Given the description of an element on the screen output the (x, y) to click on. 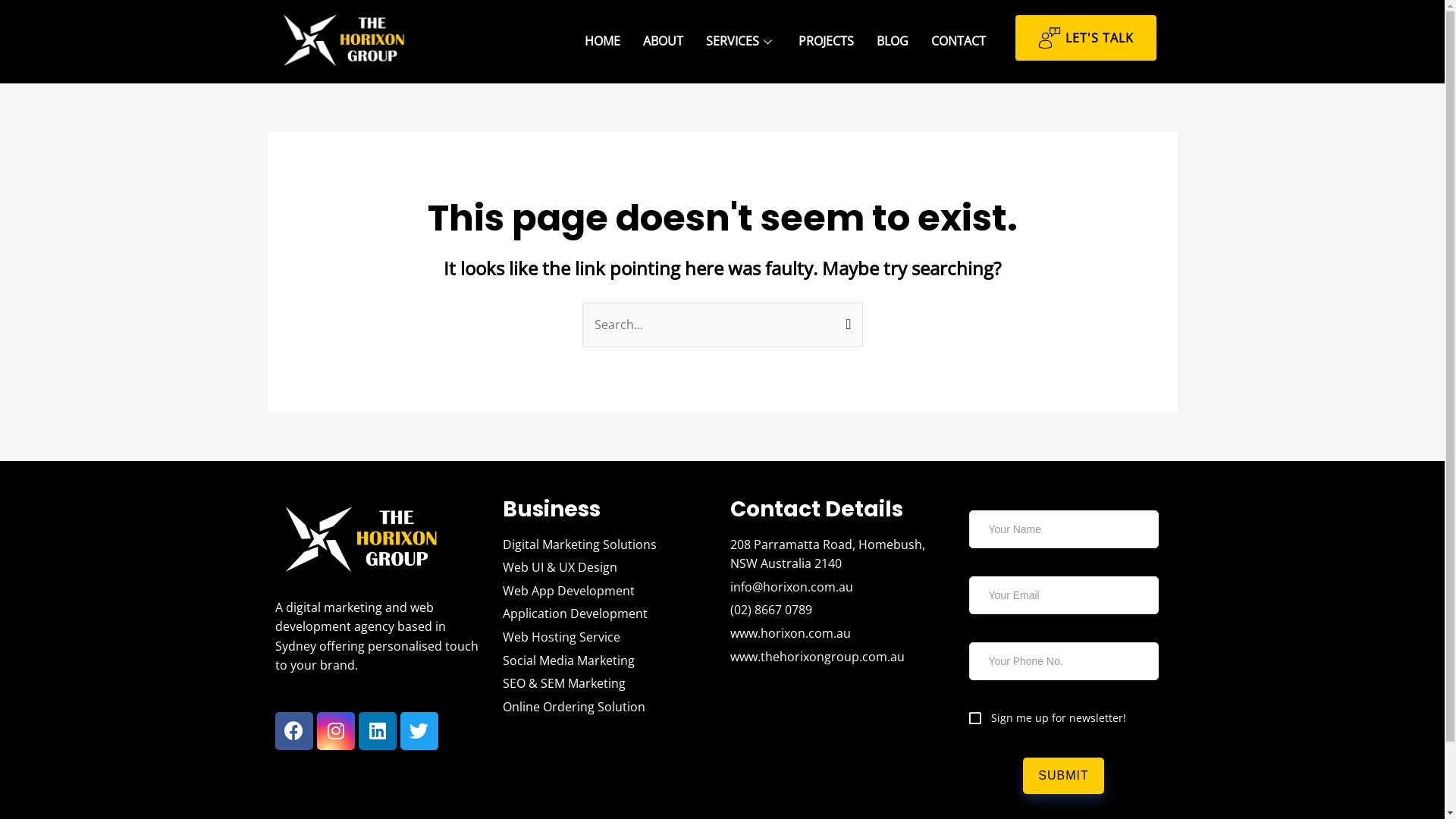
Search Element type: text (845, 317)
SUBMIT Element type: text (1062, 775)
HOME Element type: text (602, 41)
Web UI & UX Design Element type: text (608, 567)
BLOG Element type: text (892, 41)
ABOUT Element type: text (662, 41)
Twitter Element type: text (419, 730)
Instagram Element type: text (335, 730)
Linkedin Element type: text (376, 730)
Social Media Marketing Element type: text (608, 661)
CONTACT Element type: text (958, 41)
Web App Development Element type: text (608, 591)
LET'S TALK Element type: text (1085, 37)
www.horixon.com.au Element type: text (835, 633)
www.thehorixongroup.com.au Element type: text (835, 657)
SERVICES Element type: text (740, 41)
SEO & SEM Marketing Element type: text (608, 683)
(02) 8667 0789 Element type: text (835, 610)
Web Hosting Service Element type: text (608, 637)
info@horixon.com.au Element type: text (835, 587)
Application Development Element type: text (608, 614)
Digital Marketing Solutions Element type: text (608, 545)
Online Ordering Solution Element type: text (608, 707)
Facebook Element type: text (293, 730)
PROJECTS Element type: text (826, 41)
